Given the description of an element on the screen output the (x, y) to click on. 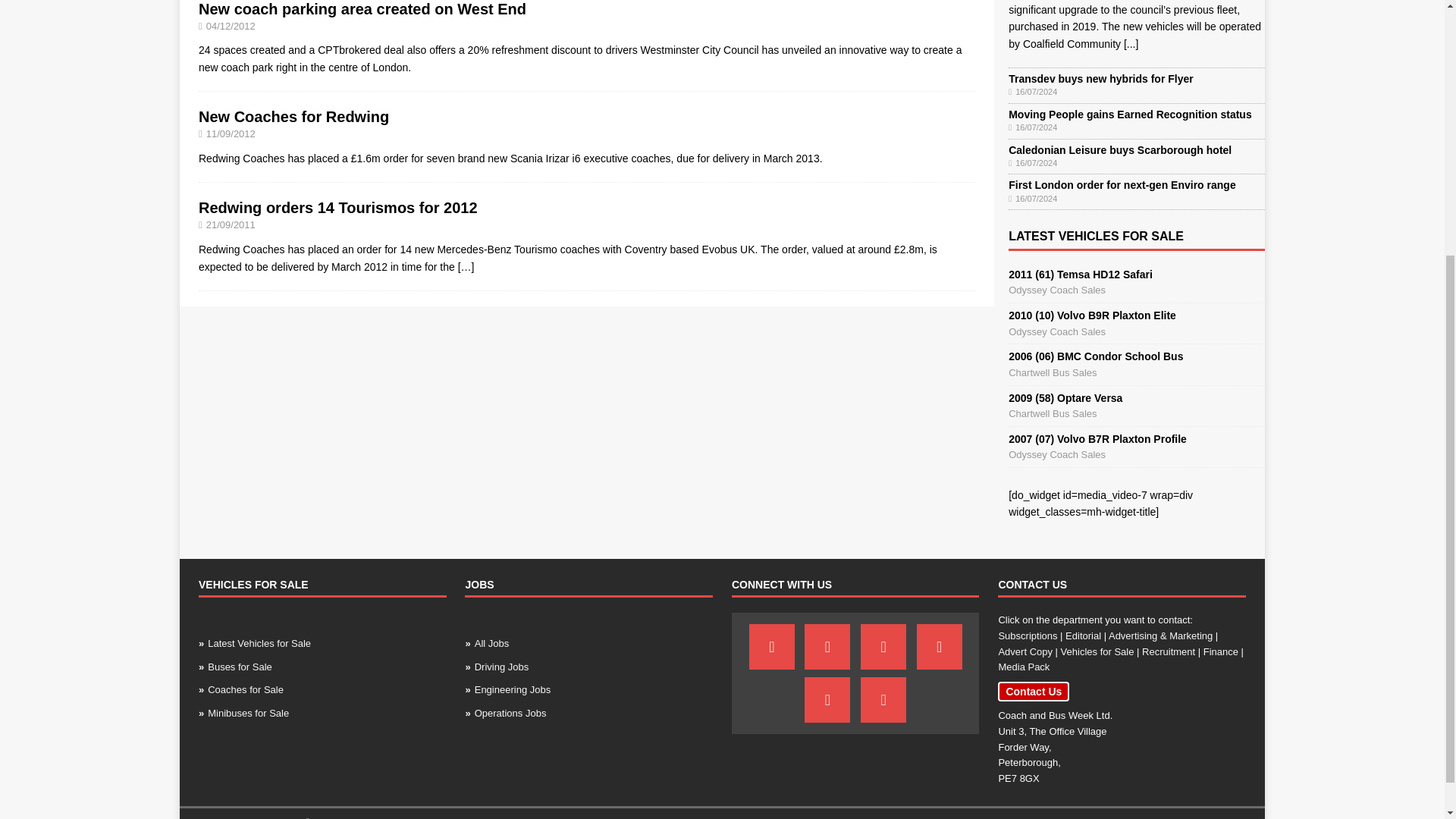
New Coaches for Redwing (293, 116)
Redwing orders 14 Tourismos for 2012 (466, 265)
Redwing orders 14 Tourismos for 2012 (337, 207)
New coach parking area created on West End (361, 8)
